Given the description of an element on the screen output the (x, y) to click on. 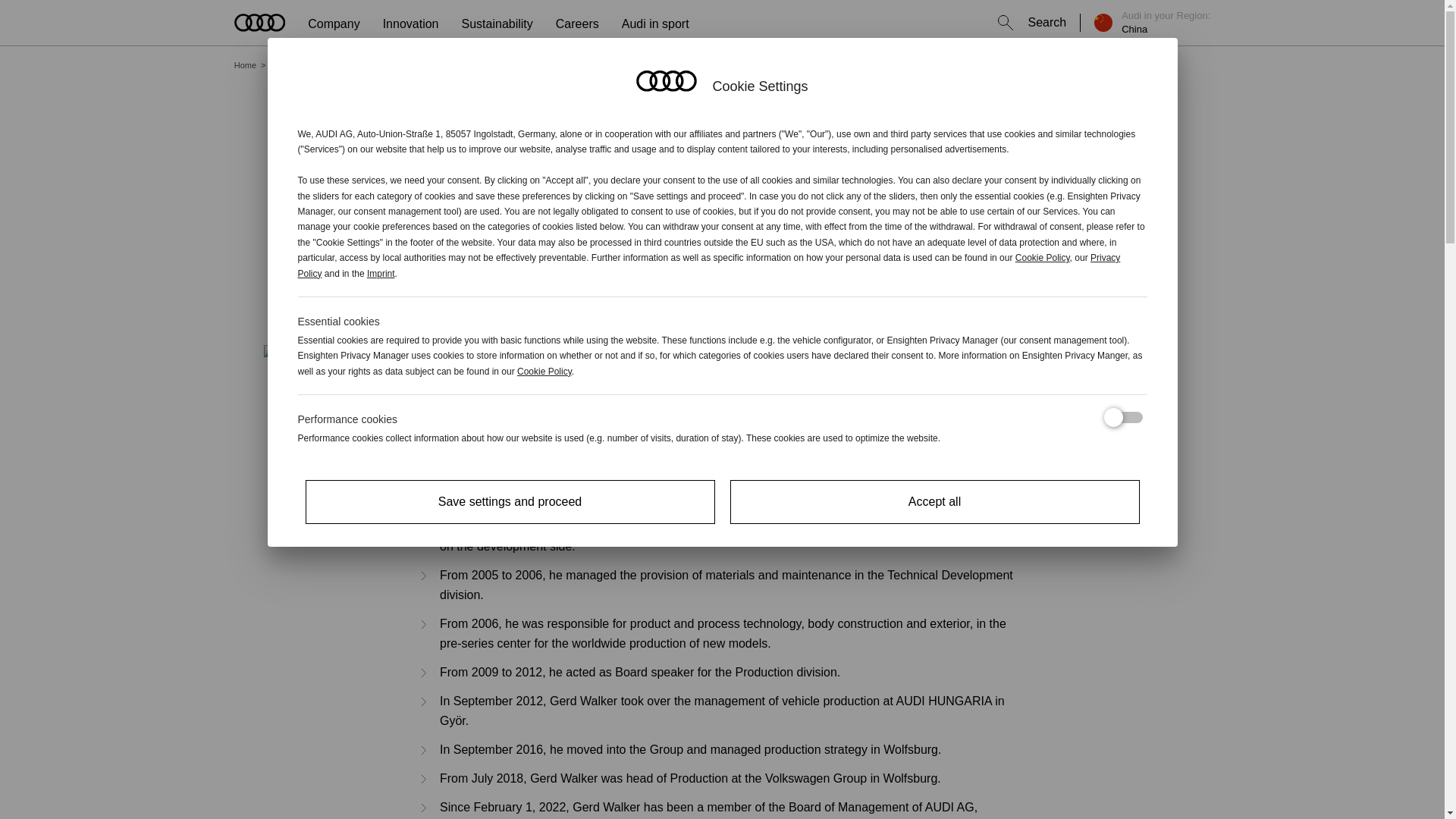
Company (333, 29)
